Given the description of an element on the screen output the (x, y) to click on. 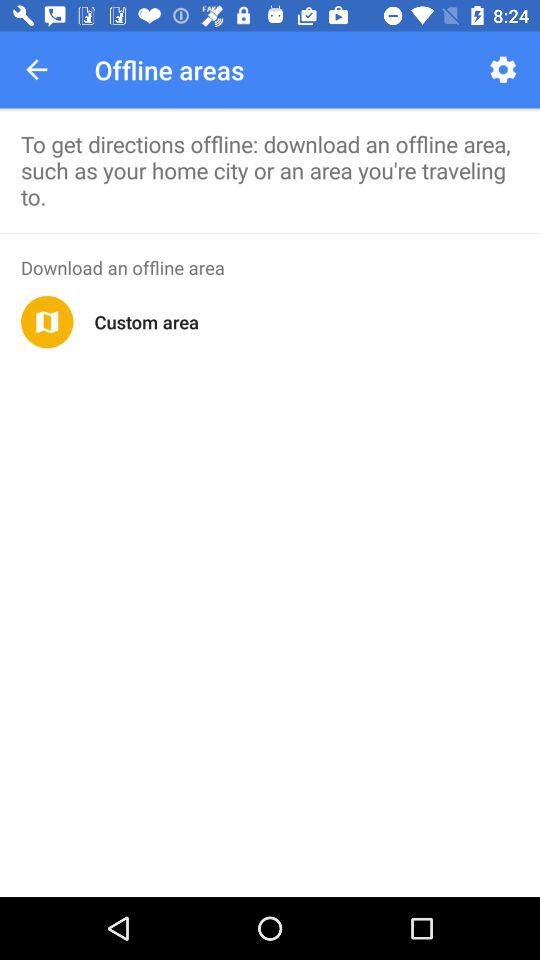
select the item at the top left corner (36, 69)
